Given the description of an element on the screen output the (x, y) to click on. 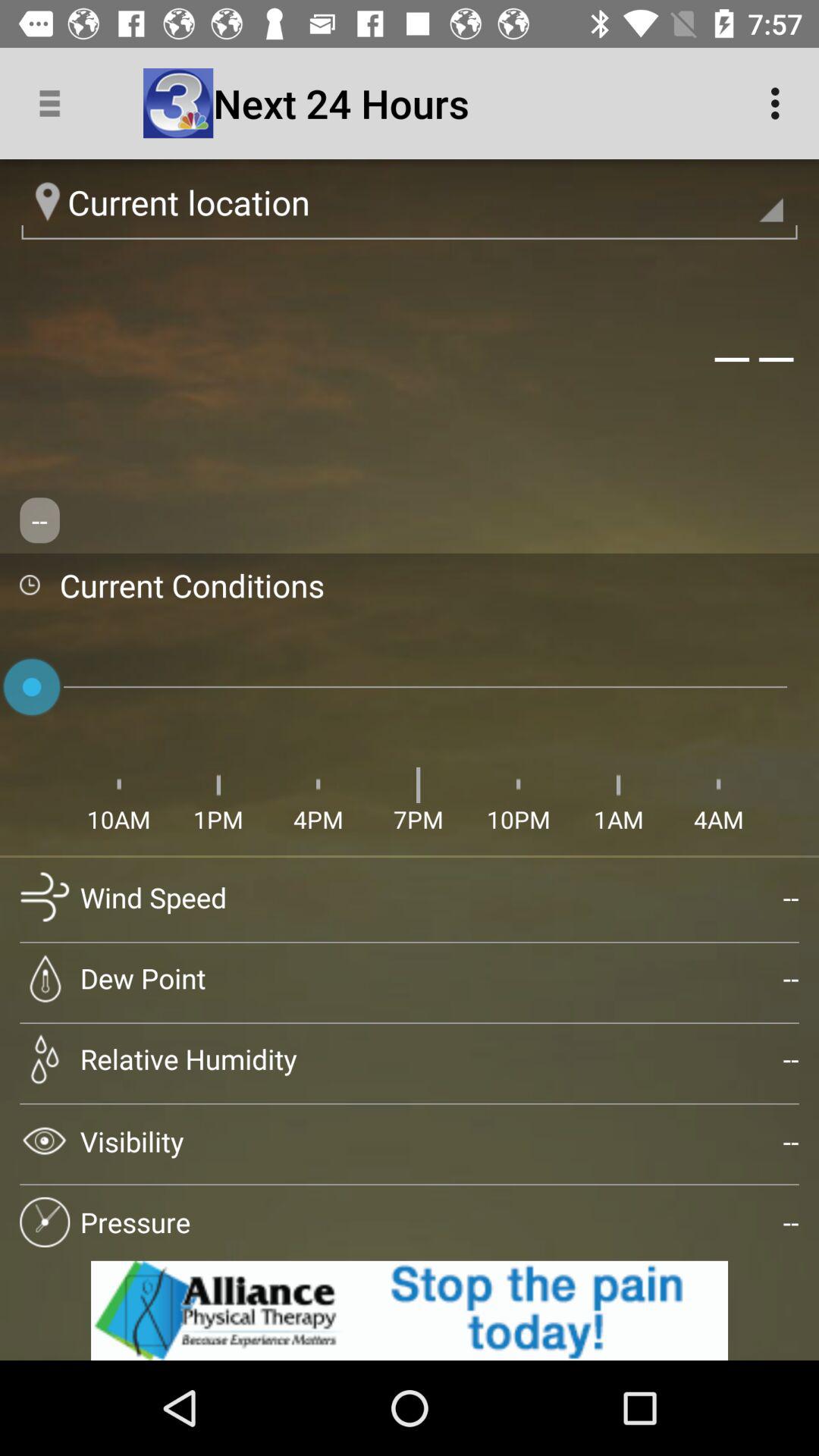
know the advertisement (409, 1310)
